Given the description of an element on the screen output the (x, y) to click on. 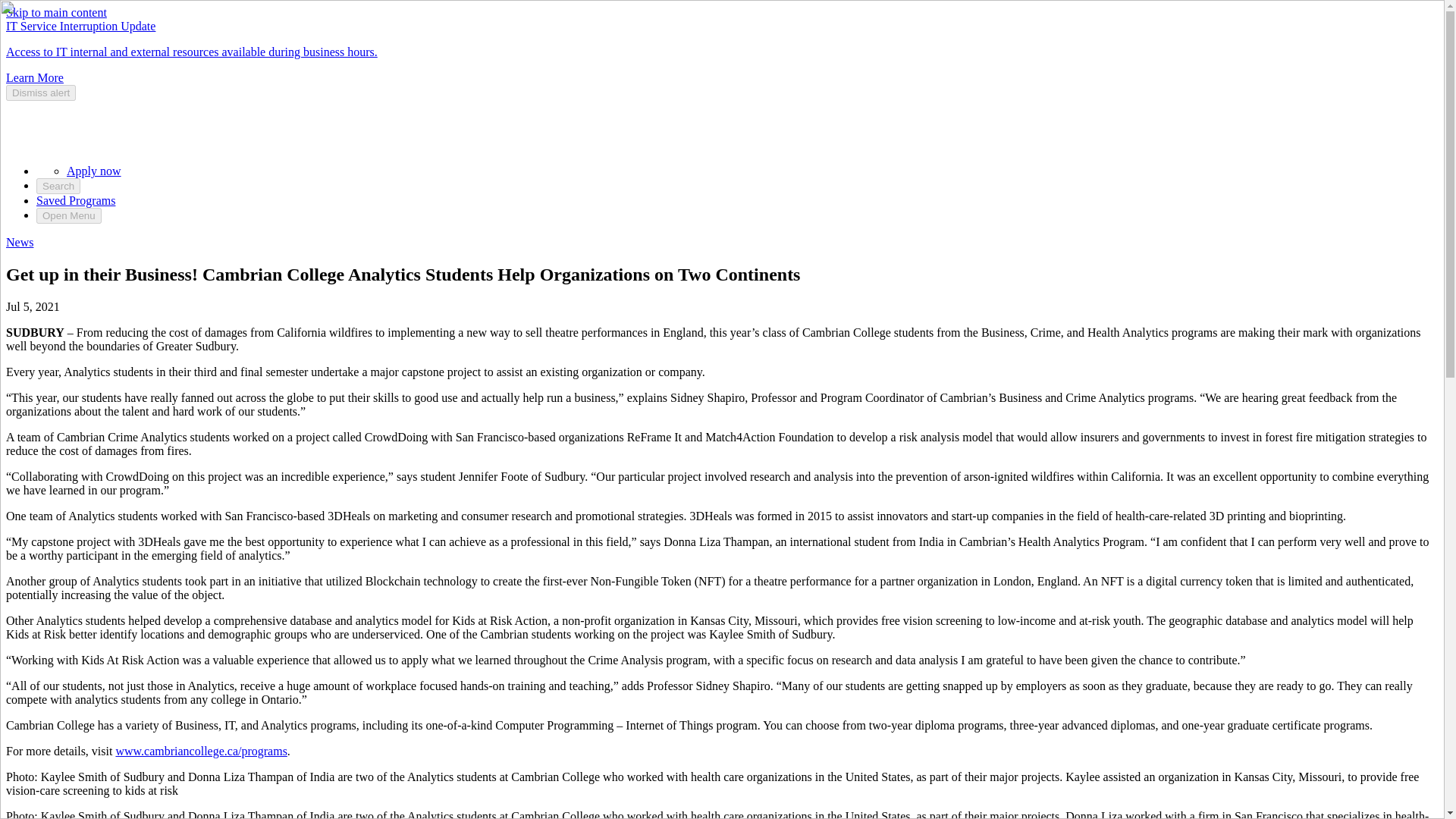
Search (58, 186)
Dismiss alert (40, 92)
Skip to main content (55, 11)
Open Menu (68, 215)
Apply now (93, 170)
